Given the description of an element on the screen output the (x, y) to click on. 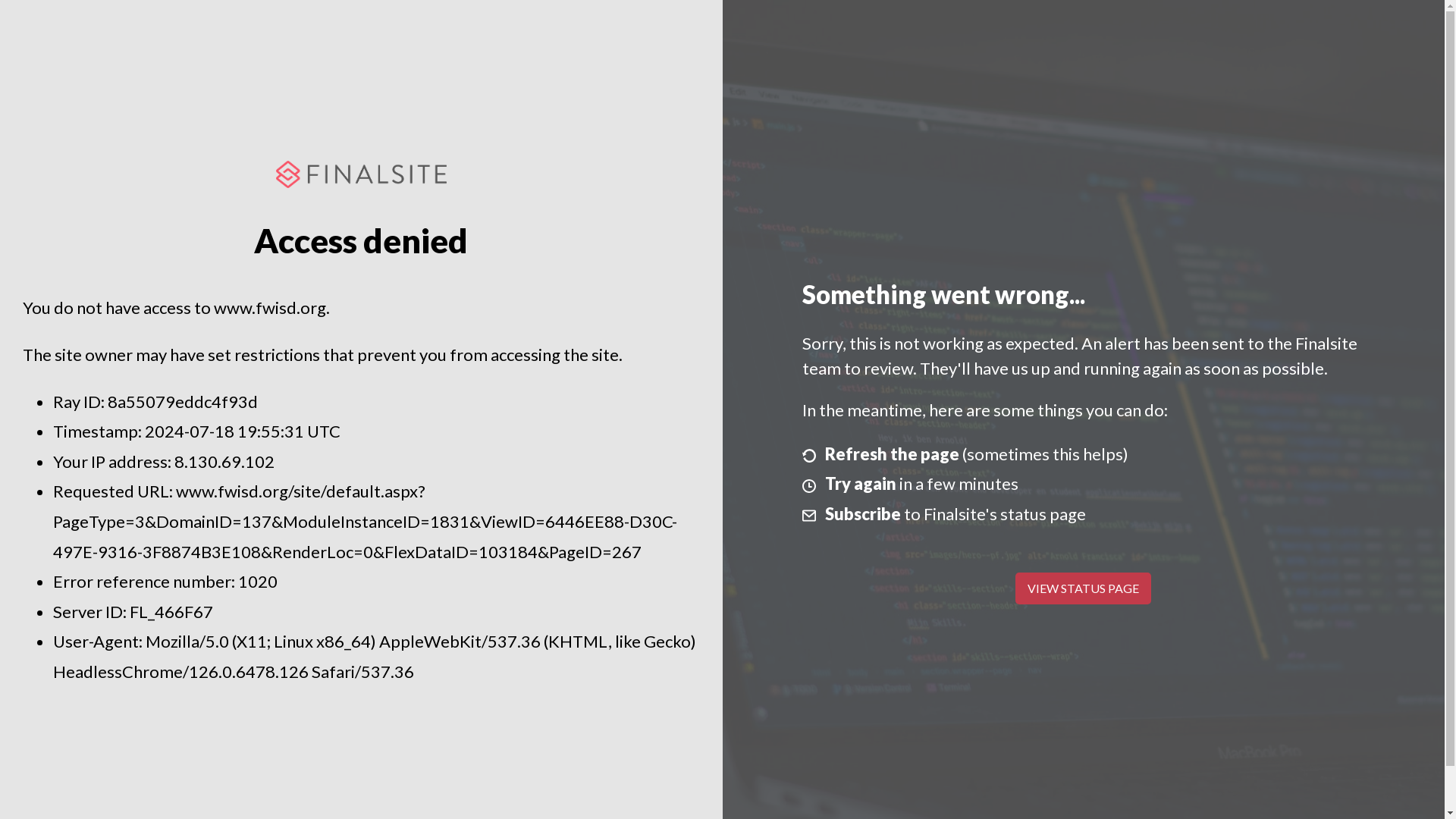
VIEW STATUS PAGE (1082, 588)
